Given the description of an element on the screen output the (x, y) to click on. 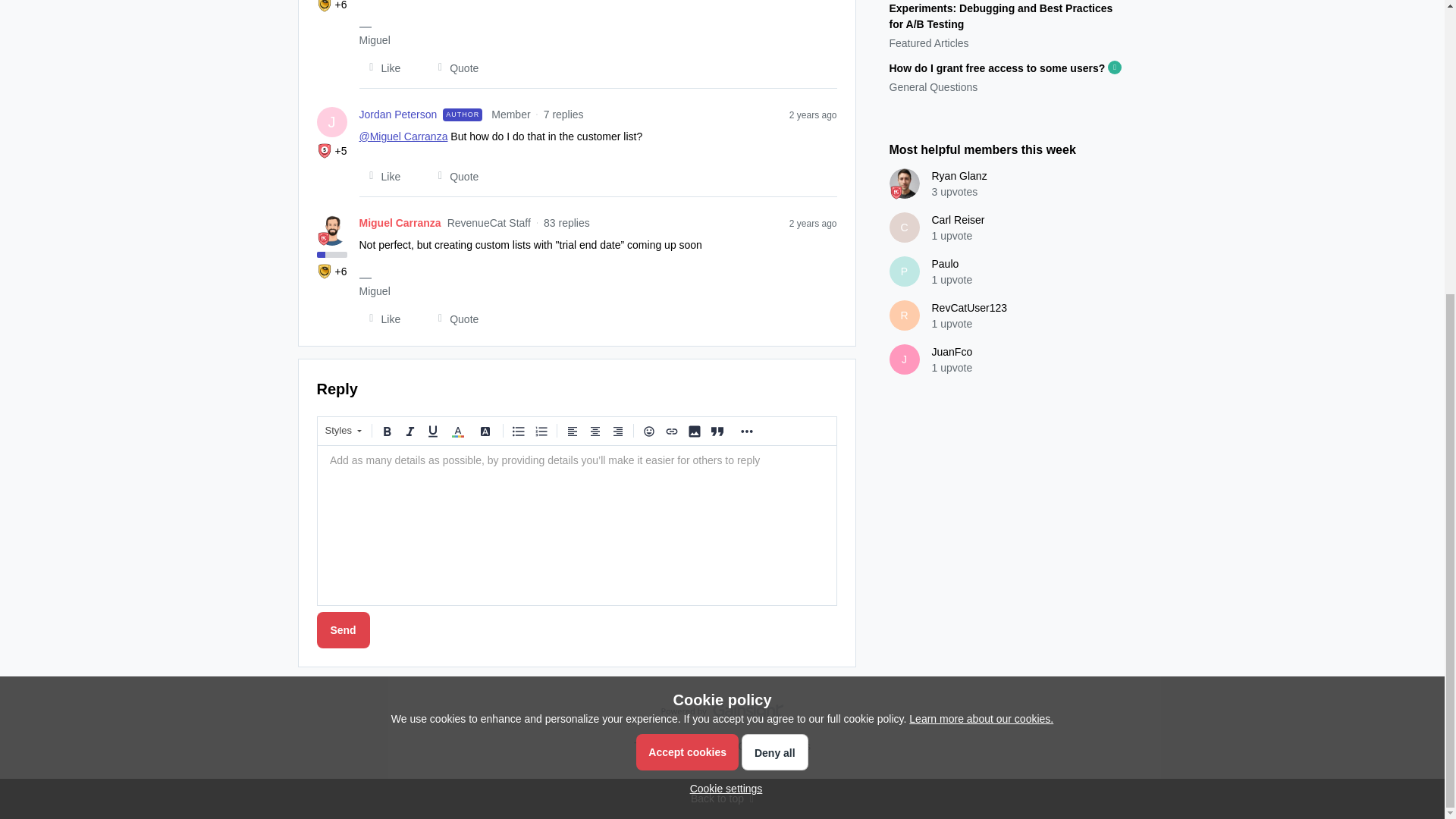
Top Banana (324, 6)
Back to top (722, 798)
